Given the description of an element on the screen output the (x, y) to click on. 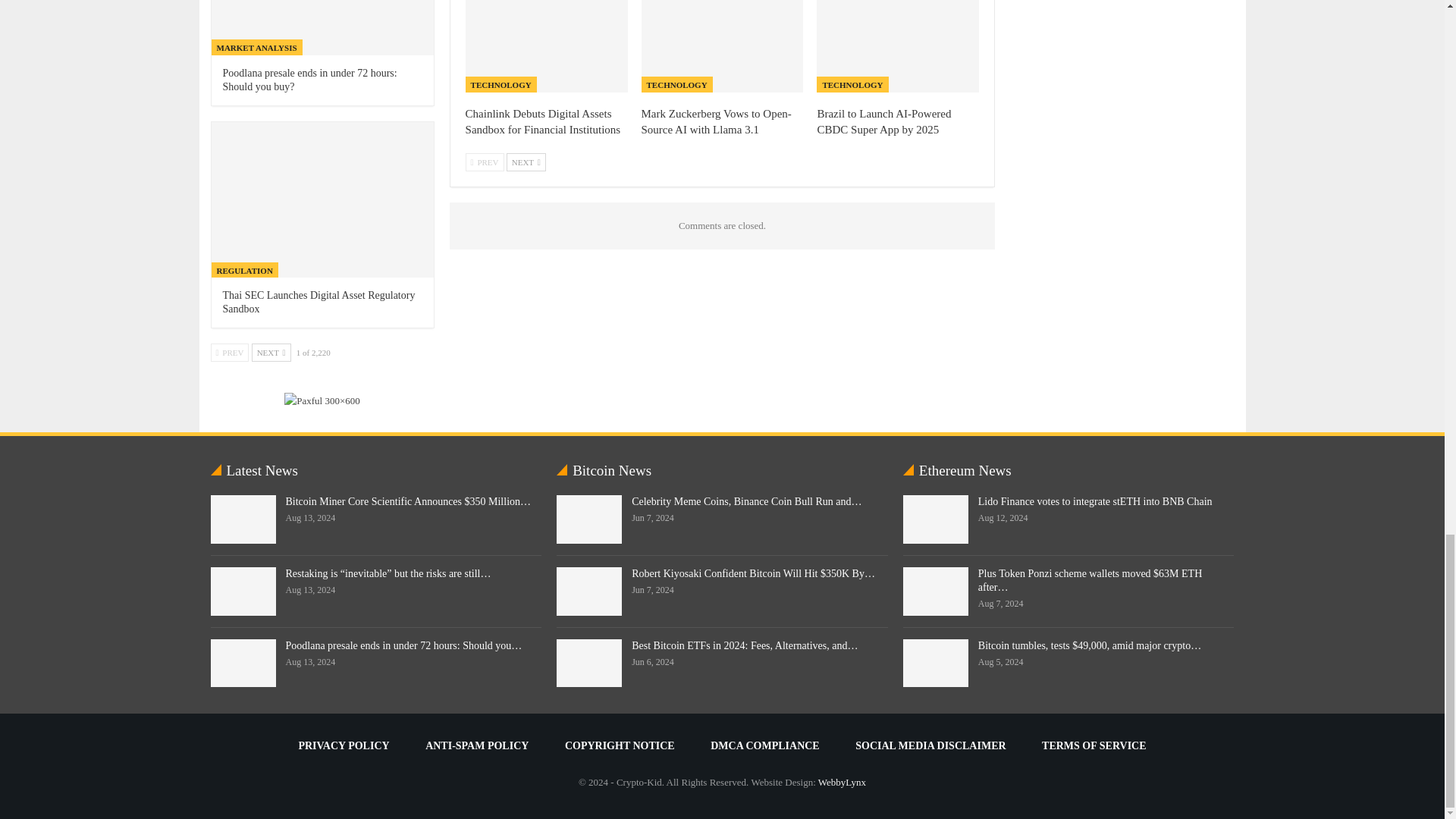
Mark Zuckerberg Vows to Open-Source AI with Llama 3.1 (722, 46)
